Given the description of an element on the screen output the (x, y) to click on. 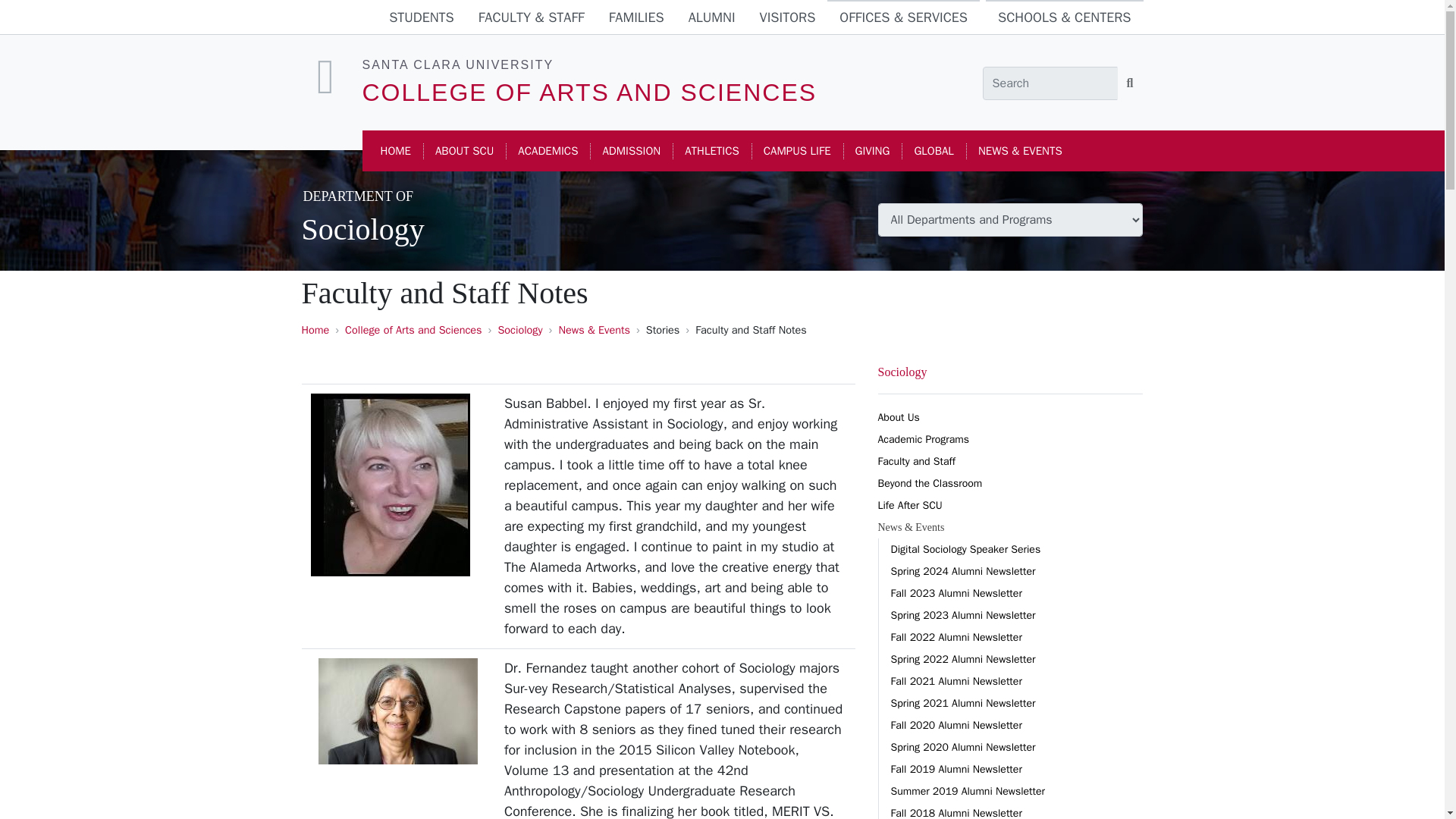
Faculty and Staff (1009, 461)
HOME (395, 151)
GIVING (872, 151)
COLLEGE OF ARTS AND SCIENCES (589, 92)
Academic Programs (1009, 439)
VISITORS (788, 17)
ABOUT SCU (464, 151)
STUDENTS (421, 17)
ATHLETICS (711, 151)
About Us (1009, 417)
